Given the description of an element on the screen output the (x, y) to click on. 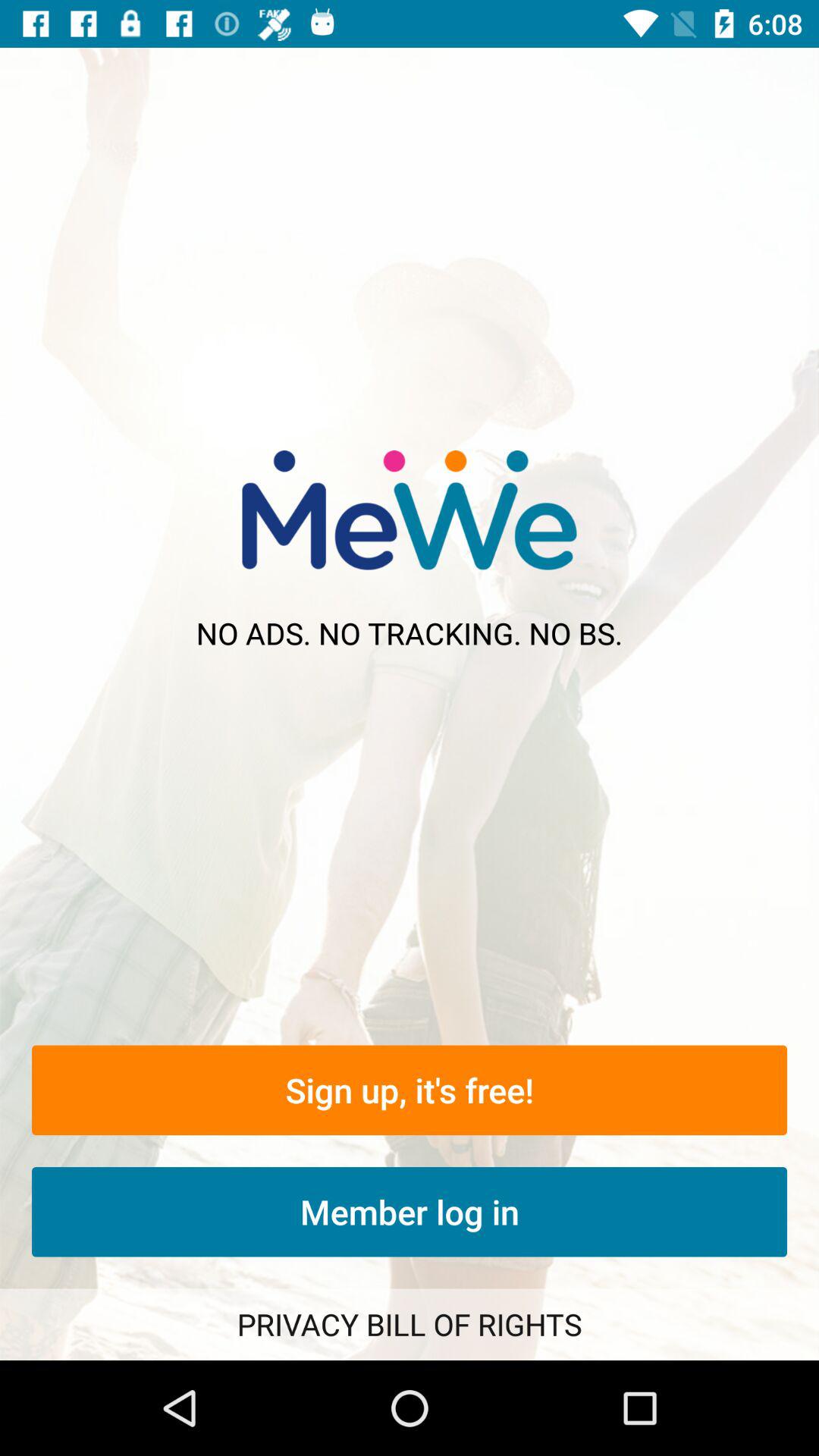
select sign up it icon (409, 1090)
